Given the description of an element on the screen output the (x, y) to click on. 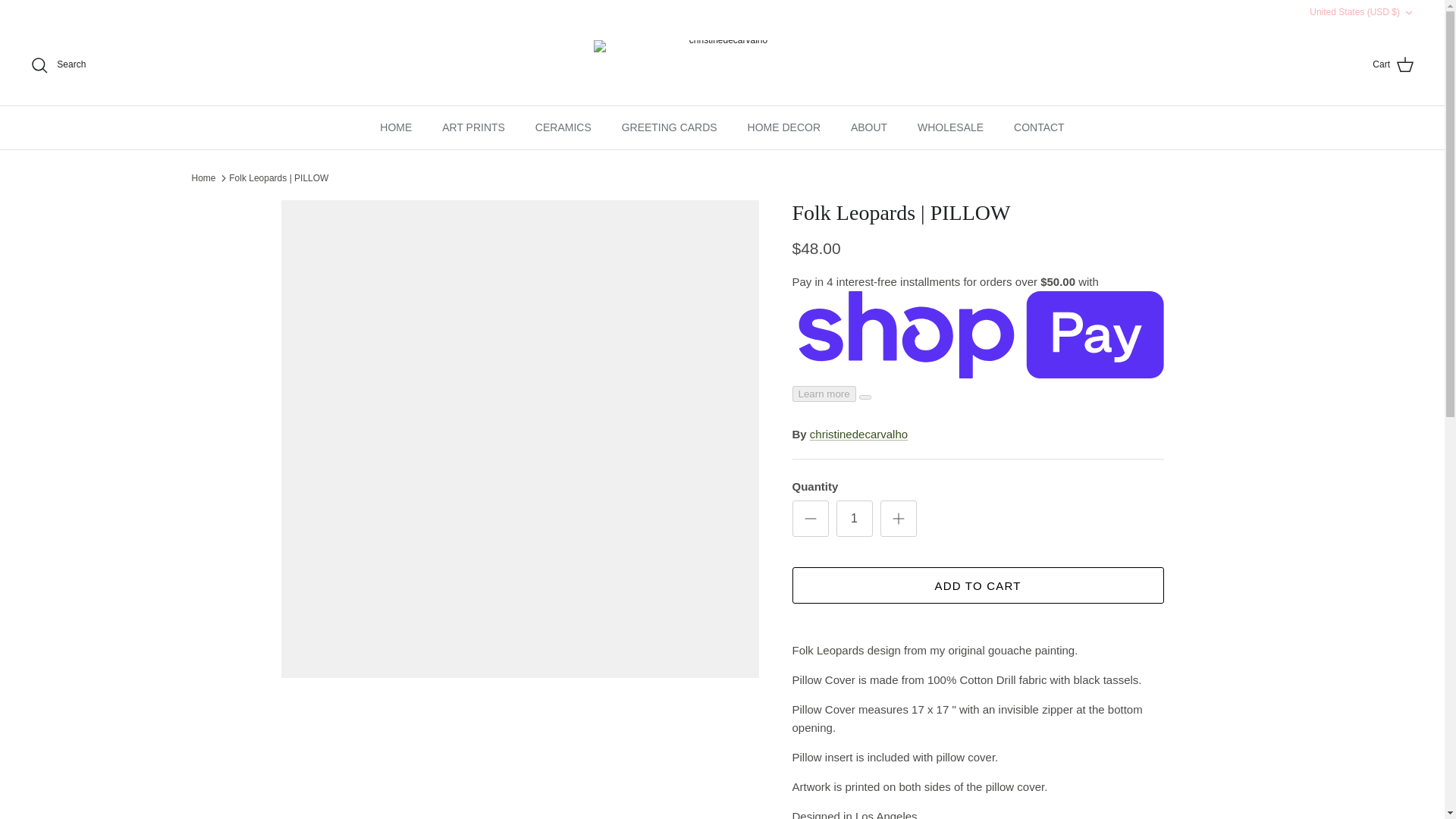
HOME (395, 127)
Cart (1393, 65)
CERAMICS (563, 127)
Minus (809, 518)
ART PRINTS (473, 127)
1 (853, 518)
Plus (897, 518)
Down (1408, 12)
christinedecarvalho (721, 65)
Search (57, 65)
